Given the description of an element on the screen output the (x, y) to click on. 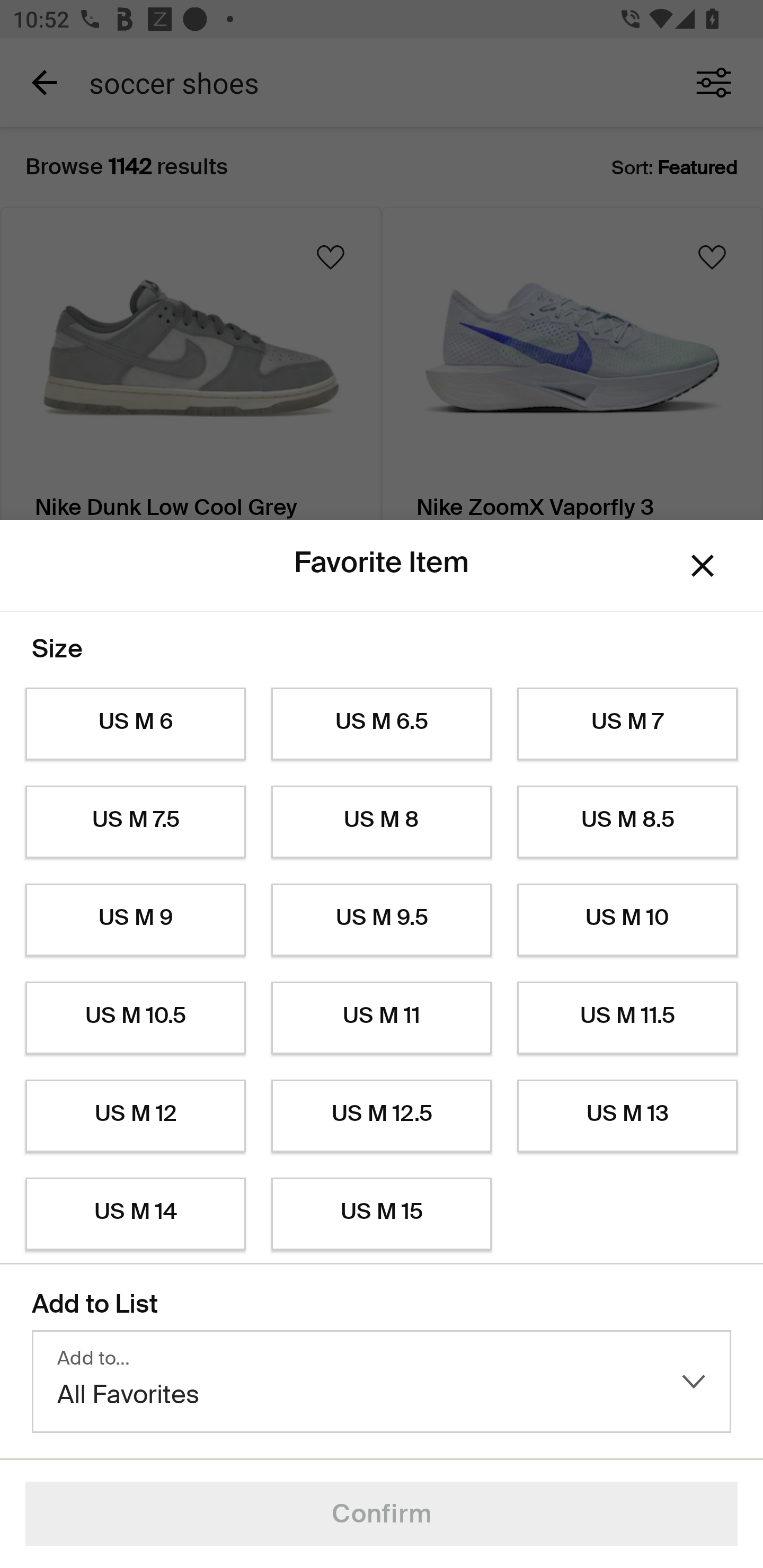
Dismiss (702, 564)
US M 6 (135, 724)
US M 6.5 (381, 724)
US M 7 (627, 724)
US M 7.5 (135, 822)
US M 8 (381, 822)
US M 8.5 (627, 822)
US M 9 (135, 919)
US M 9.5 (381, 919)
US M 10 (627, 919)
US M 10.5 (135, 1018)
US M 11 (381, 1018)
US M 11.5 (627, 1018)
US M 12 (135, 1116)
US M 12.5 (381, 1116)
US M 13 (627, 1116)
US M 14 (135, 1214)
US M 15 (381, 1214)
Add to… All Favorites (381, 1381)
Confirm (381, 1513)
